Given the description of an element on the screen output the (x, y) to click on. 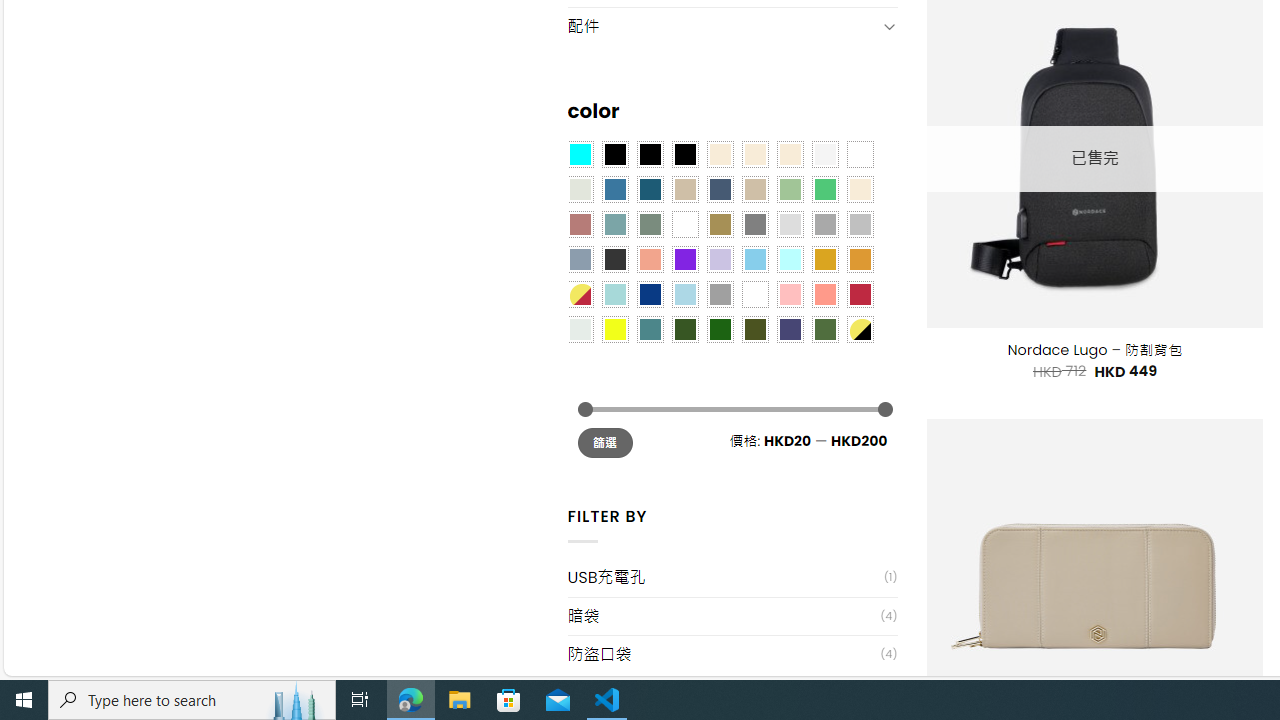
Dull Nickle (579, 329)
